Given the description of an element on the screen output the (x, y) to click on. 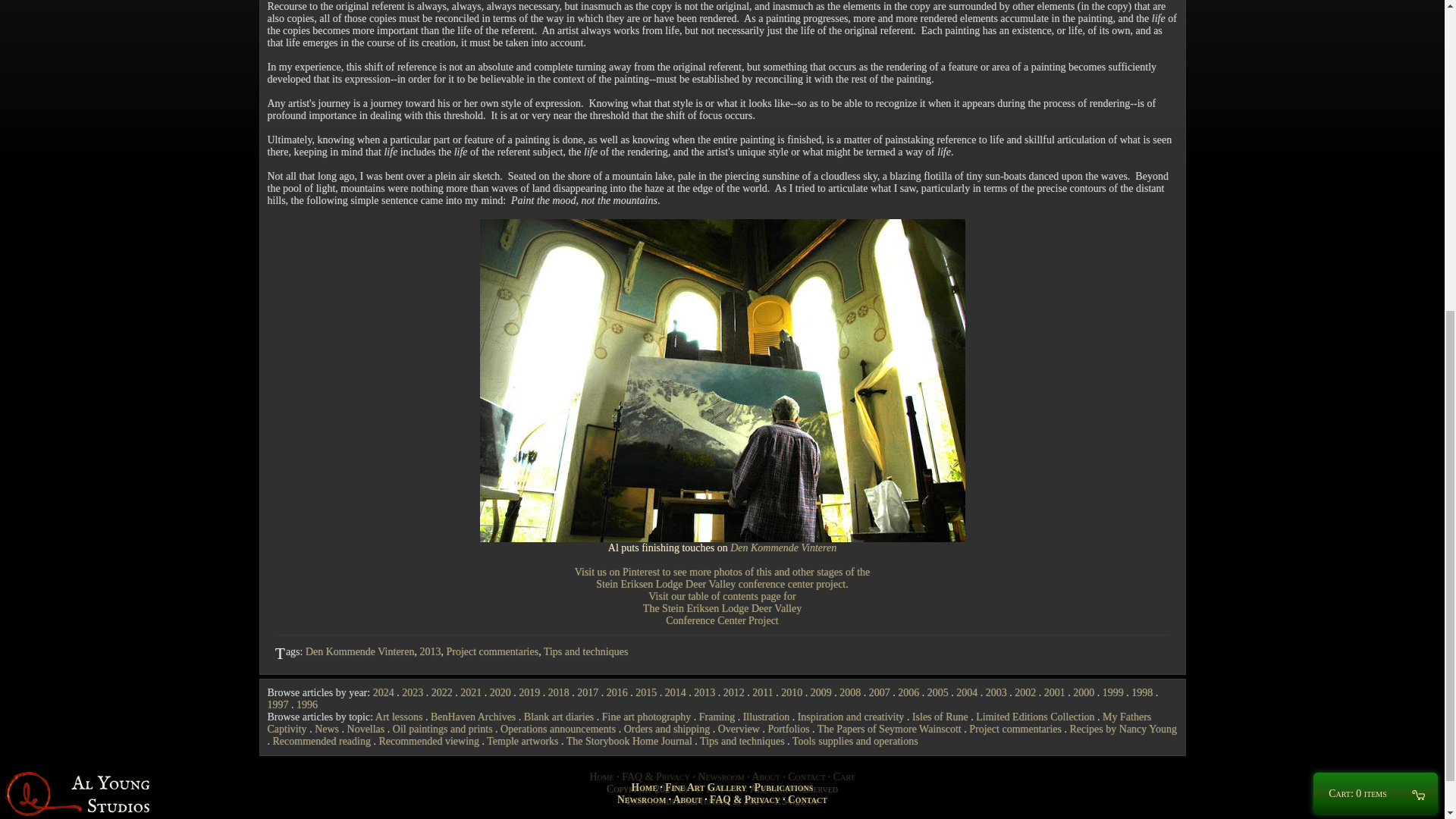
2006 (908, 692)
2007 (879, 692)
2015 (645, 692)
Project commentaries (491, 651)
2003 (996, 692)
2008 (850, 692)
Tips and techniques (585, 651)
2020 (500, 692)
2013 (430, 651)
